Given the description of an element on the screen output the (x, y) to click on. 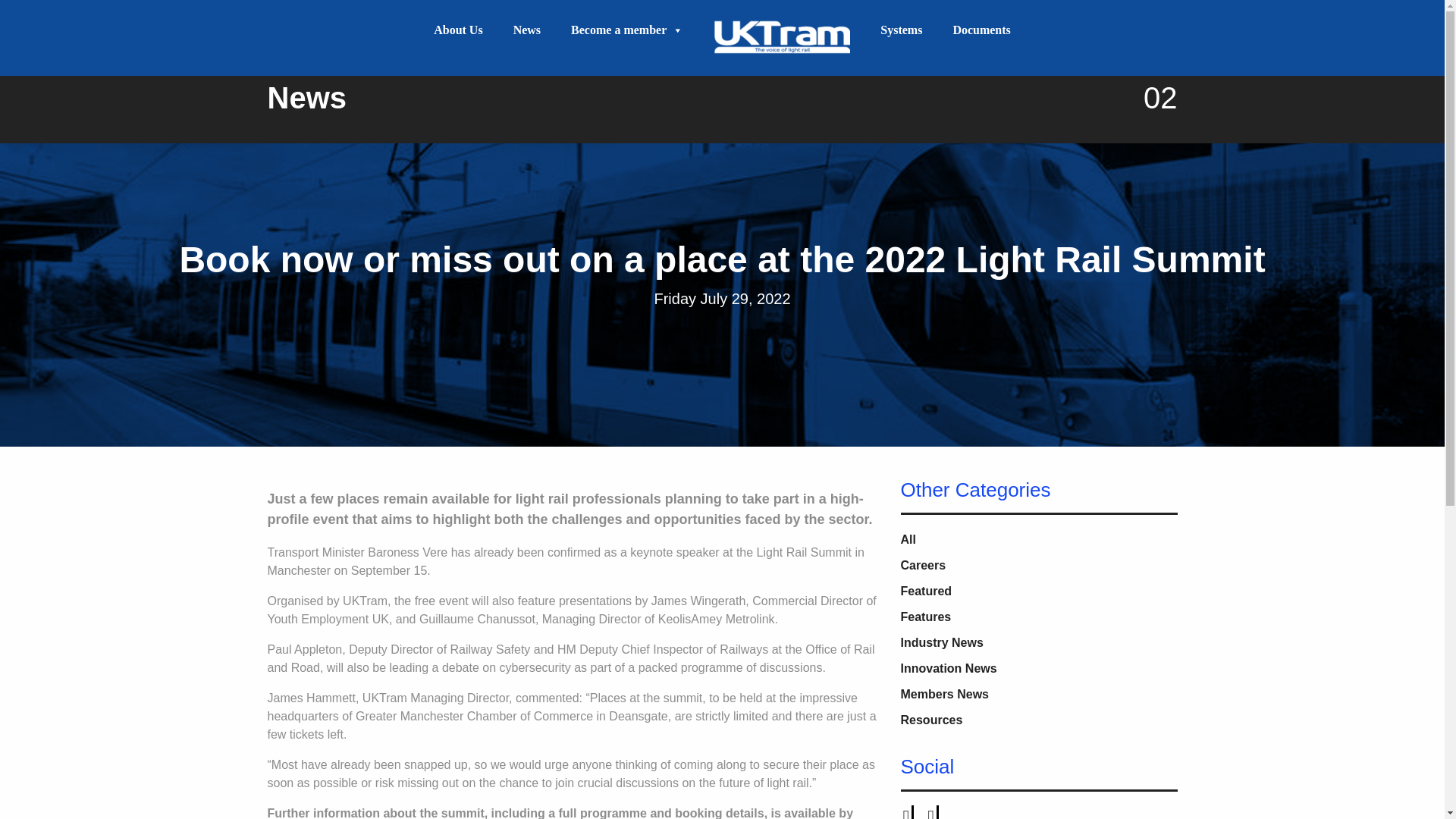
Features (926, 615)
Featured (926, 590)
Innovation News (949, 667)
News (526, 30)
Careers (923, 563)
Become a member (627, 30)
All (908, 538)
Members News (945, 693)
Resources (931, 718)
Industry News (942, 641)
Documents (981, 30)
Systems (900, 30)
About Us (458, 30)
